Given the description of an element on the screen output the (x, y) to click on. 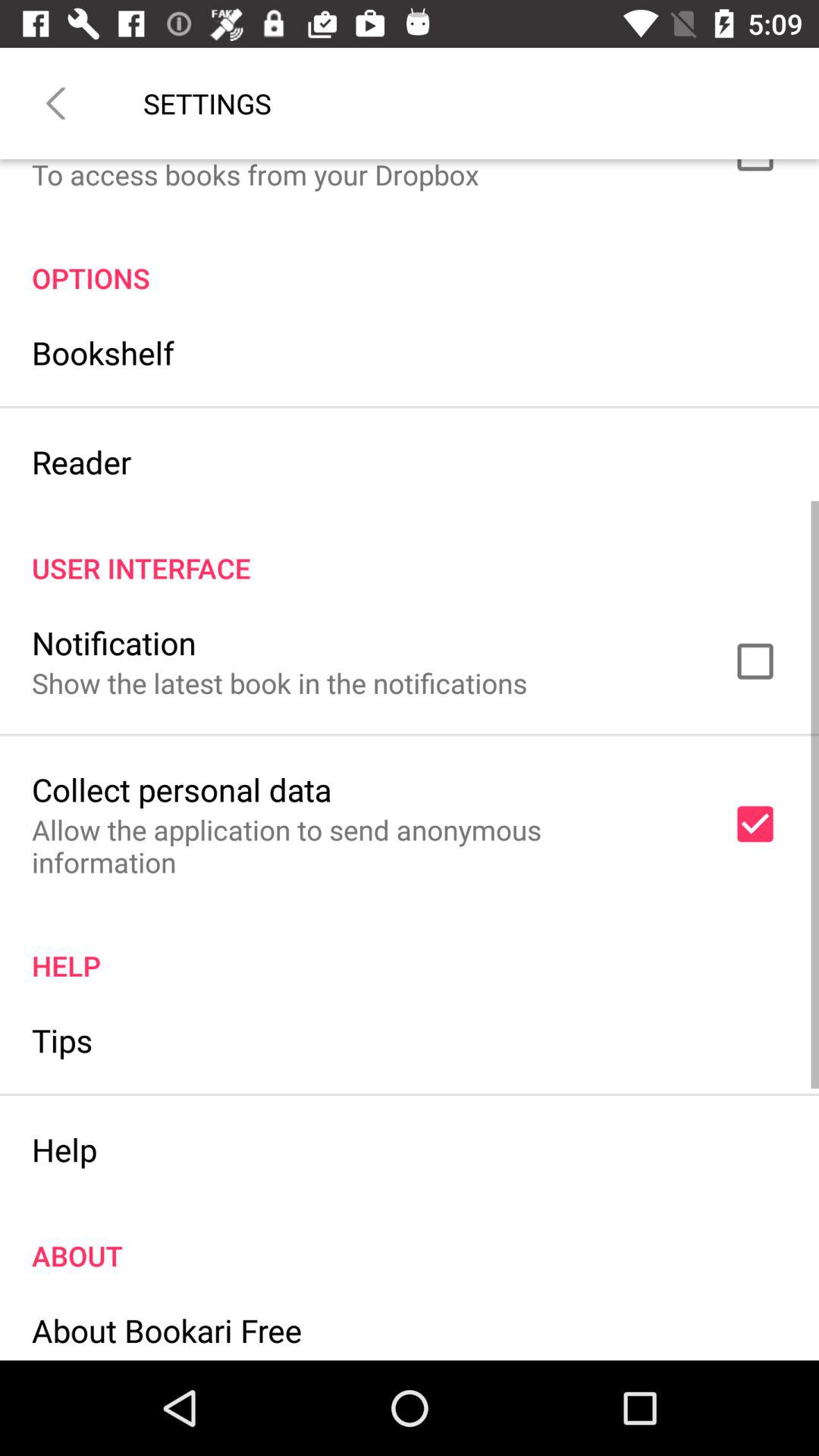
select the user interface (409, 551)
